Given the description of an element on the screen output the (x, y) to click on. 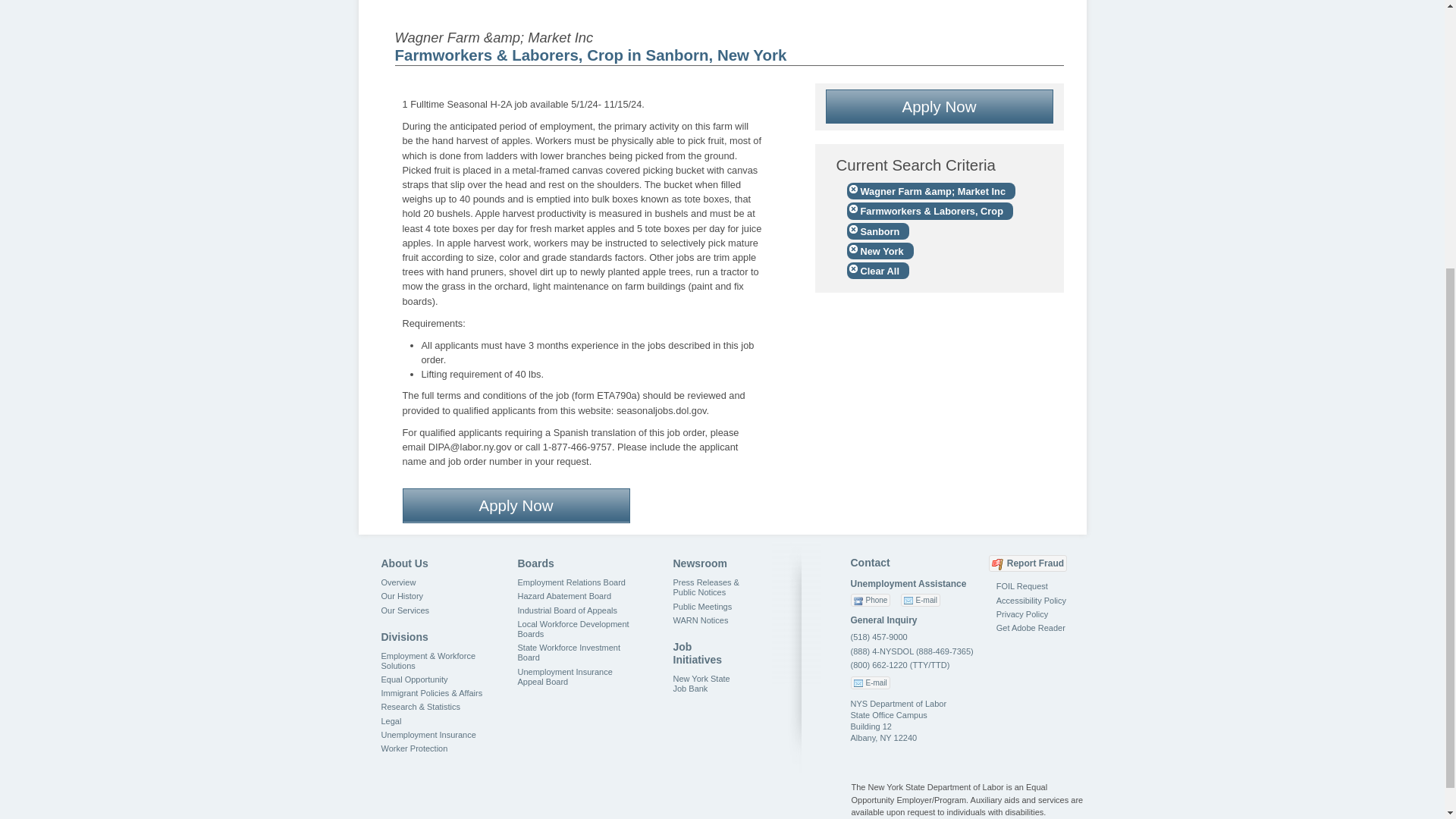
FOIL Request (1021, 585)
Sanborn (876, 230)
Unemployment Insurance Appeal Board (563, 676)
State Workforce Investment Board (568, 651)
Remove New York (878, 250)
WARN Notices (700, 619)
Get Adobe Reader (1030, 627)
Report Fraud (1027, 563)
Apply Now (514, 505)
Phone (870, 599)
E-mail (920, 599)
New York (878, 250)
Public Meetings (702, 605)
Unemployment Insurance (428, 734)
Employment Relations Board (570, 582)
